Given the description of an element on the screen output the (x, y) to click on. 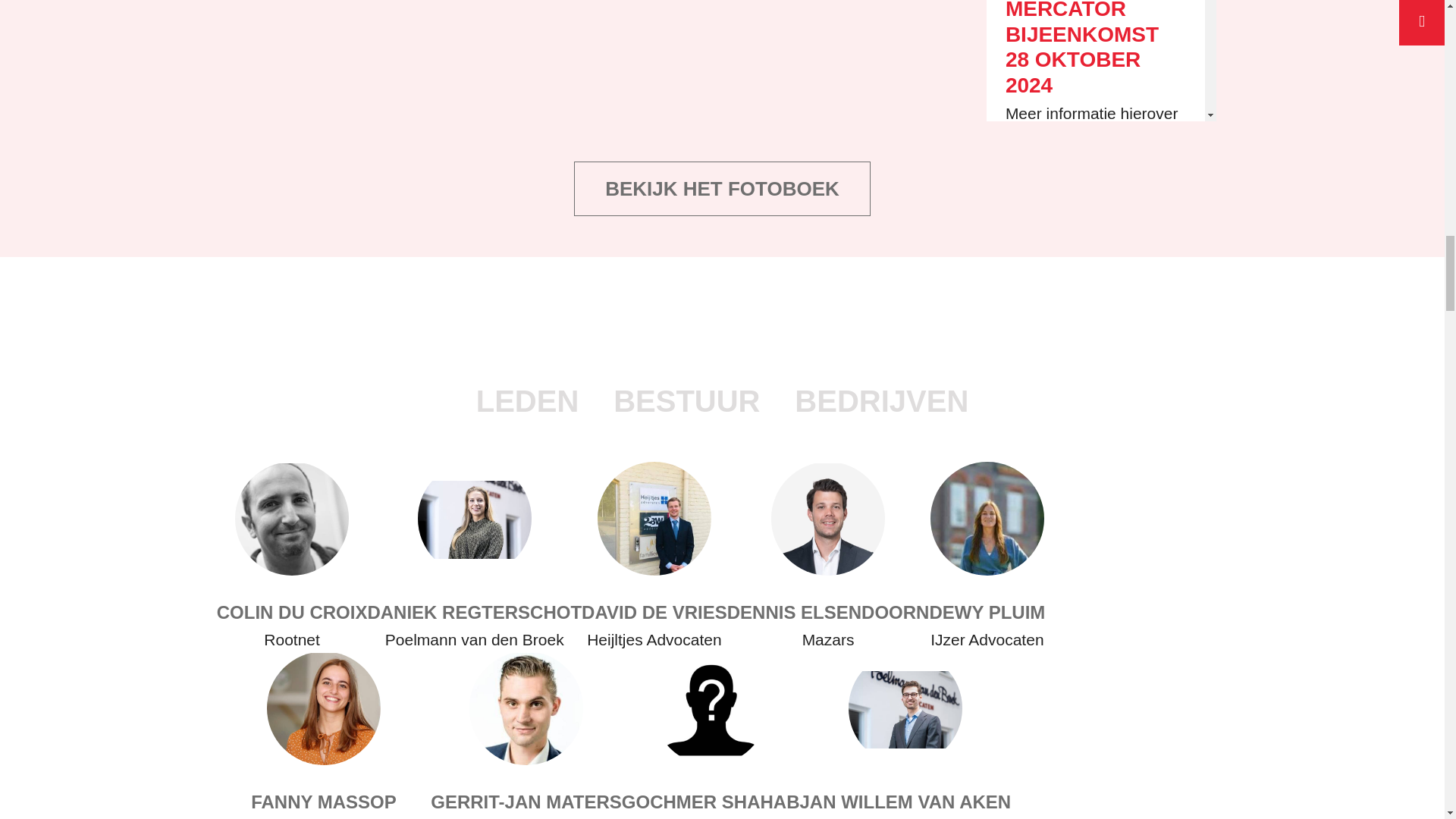
Lees meer (1043, 647)
BEKIJK HET FOTOBOEK (721, 188)
Lees meer (1043, 176)
Lees meer (1043, 411)
